Given the description of an element on the screen output the (x, y) to click on. 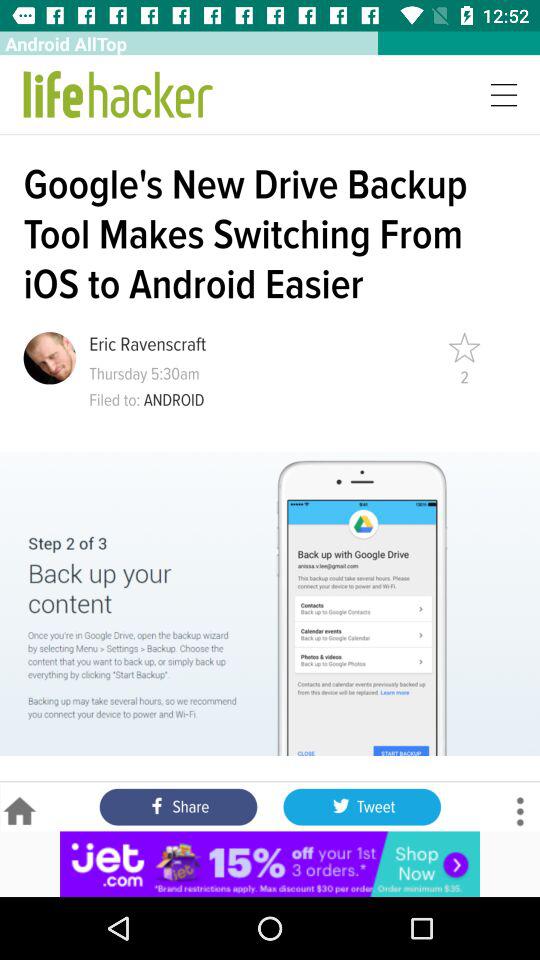
open advertisement (270, 864)
